Given the description of an element on the screen output the (x, y) to click on. 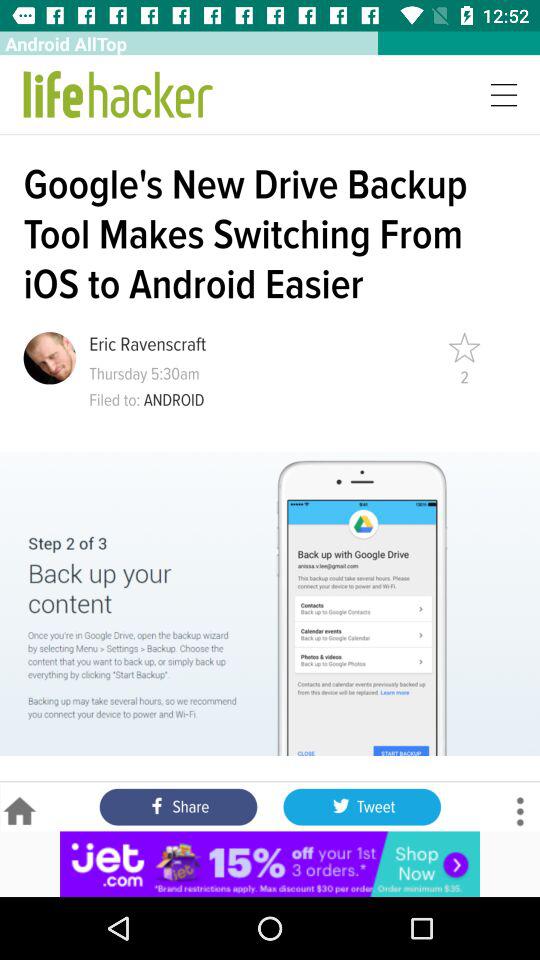
open advertisement (270, 864)
